Given the description of an element on the screen output the (x, y) to click on. 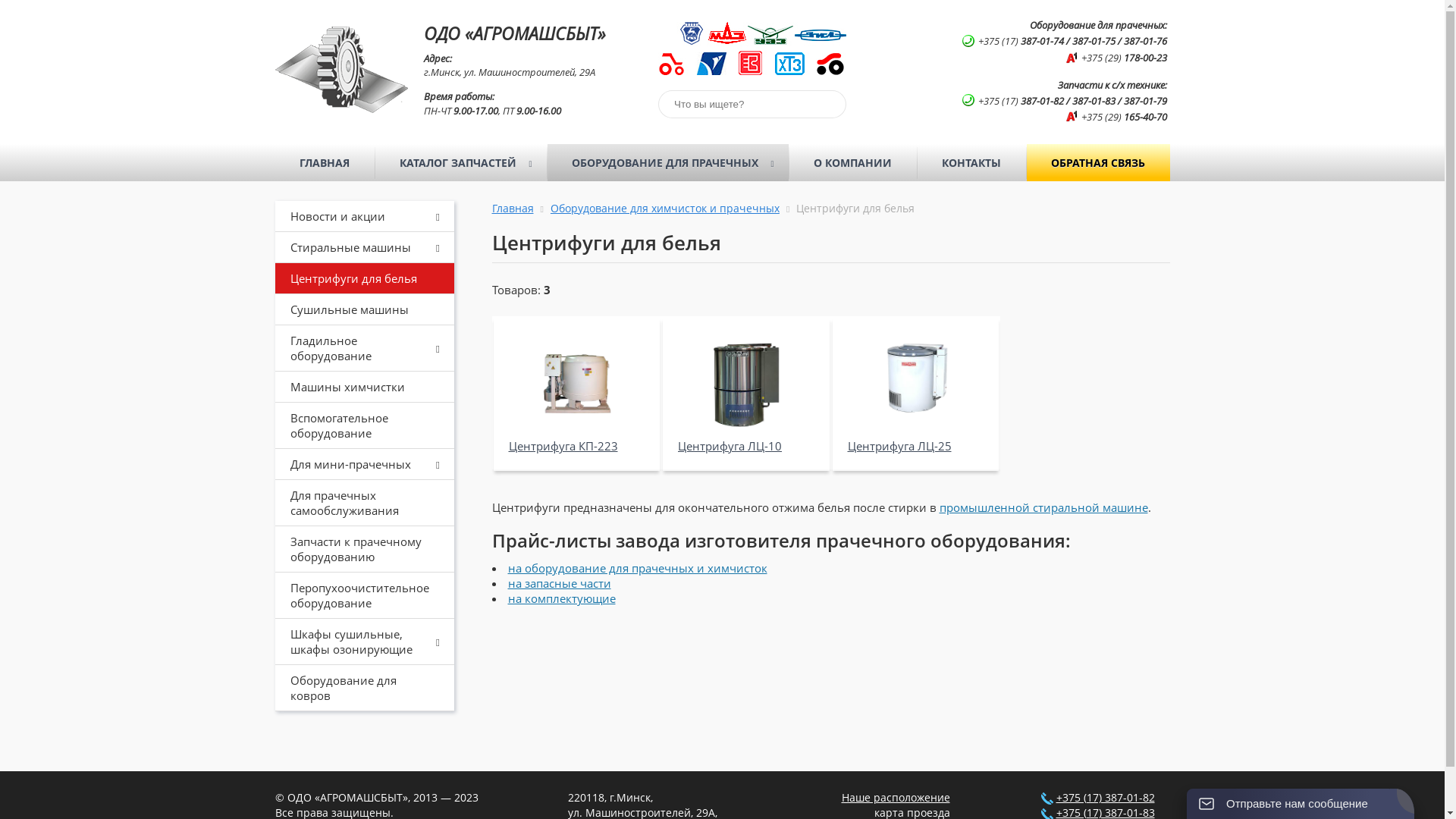
+375 (17) 387-01-82 Element type: text (1104, 797)
